Given the description of an element on the screen output the (x, y) to click on. 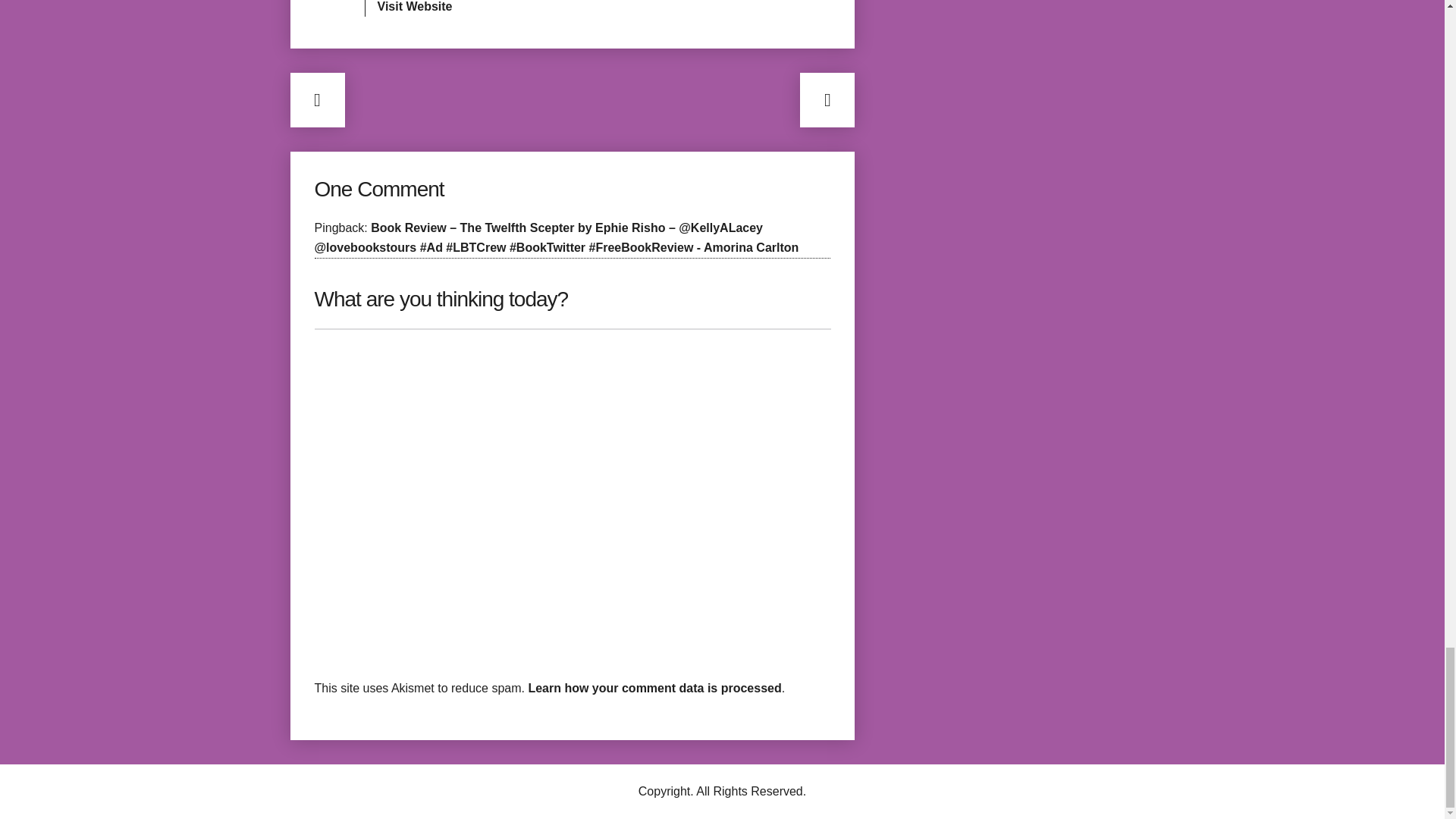
Visit Website (414, 6)
Learn how your comment data is processed (653, 687)
